Given the description of an element on the screen output the (x, y) to click on. 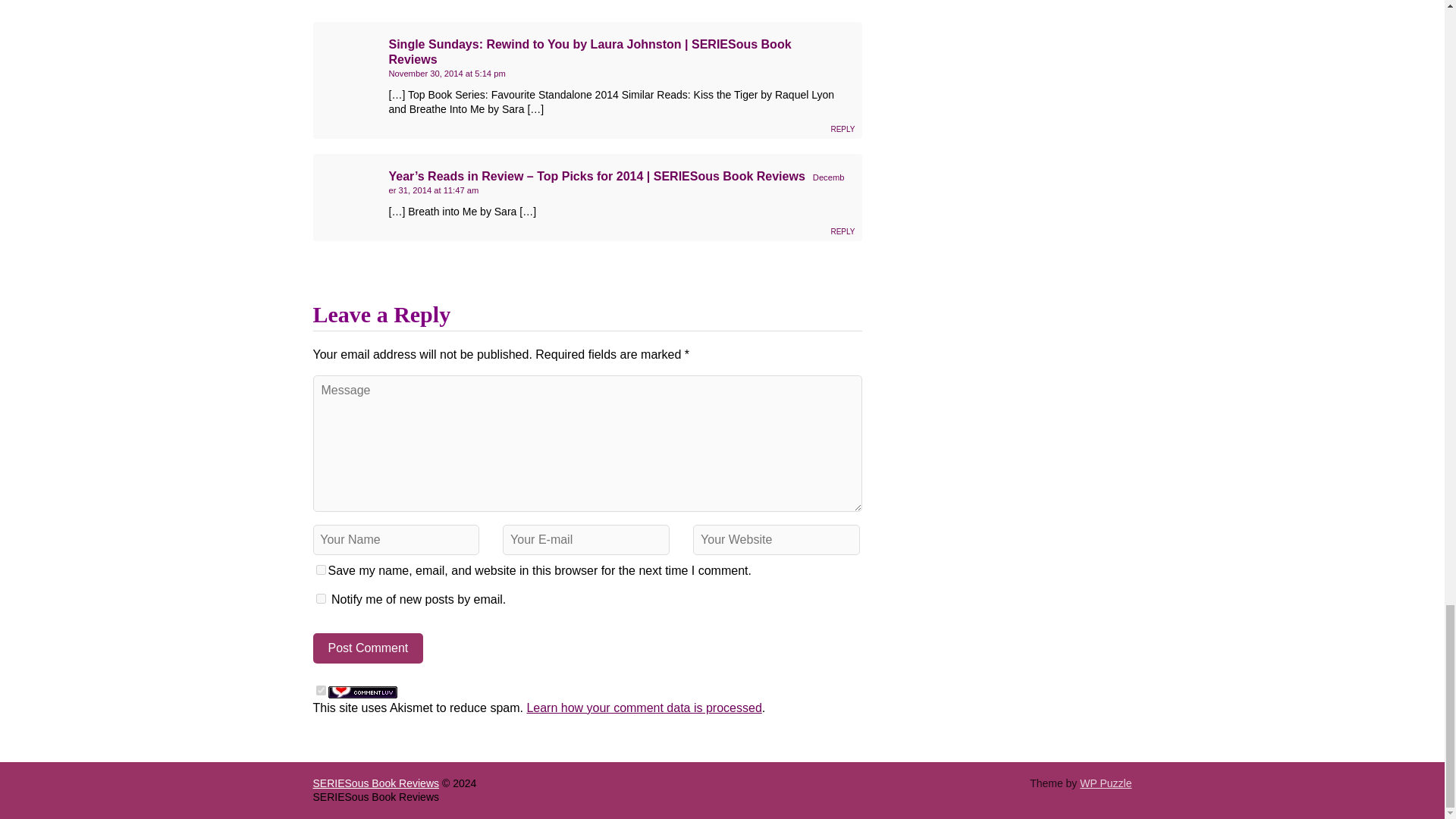
subscribe (319, 598)
yes (319, 569)
Post Comment (368, 648)
on (319, 690)
